Given the description of an element on the screen output the (x, y) to click on. 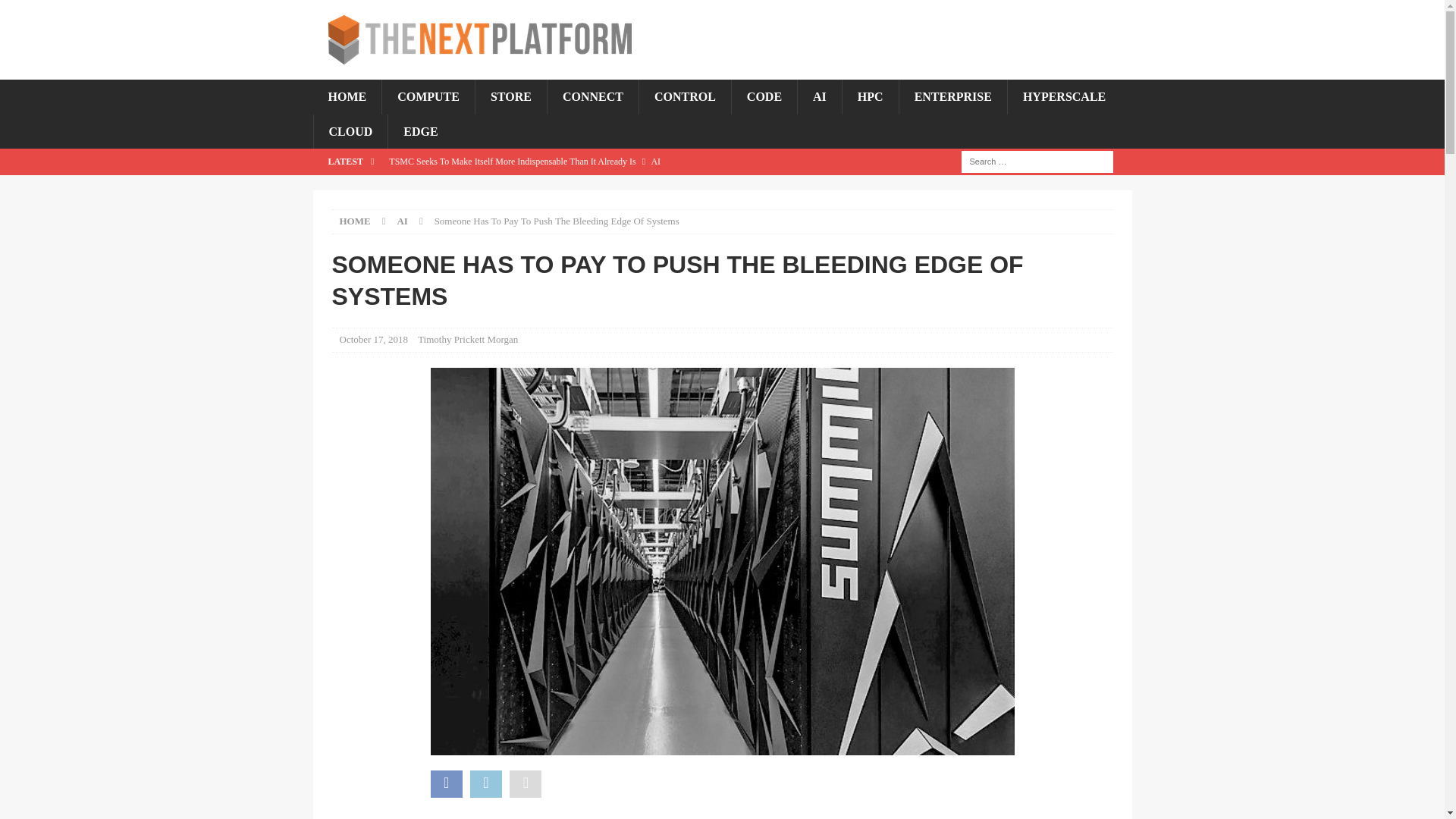
EDGE (419, 131)
CONTROL (684, 96)
CONNECT (593, 96)
STORE (510, 96)
ENTERPRISE (952, 96)
HPC (869, 96)
Search (56, 11)
AI (818, 96)
October 17, 2018 (374, 338)
HYPERSCALE (1064, 96)
CODE (763, 96)
HOME (355, 220)
